Given the description of an element on the screen output the (x, y) to click on. 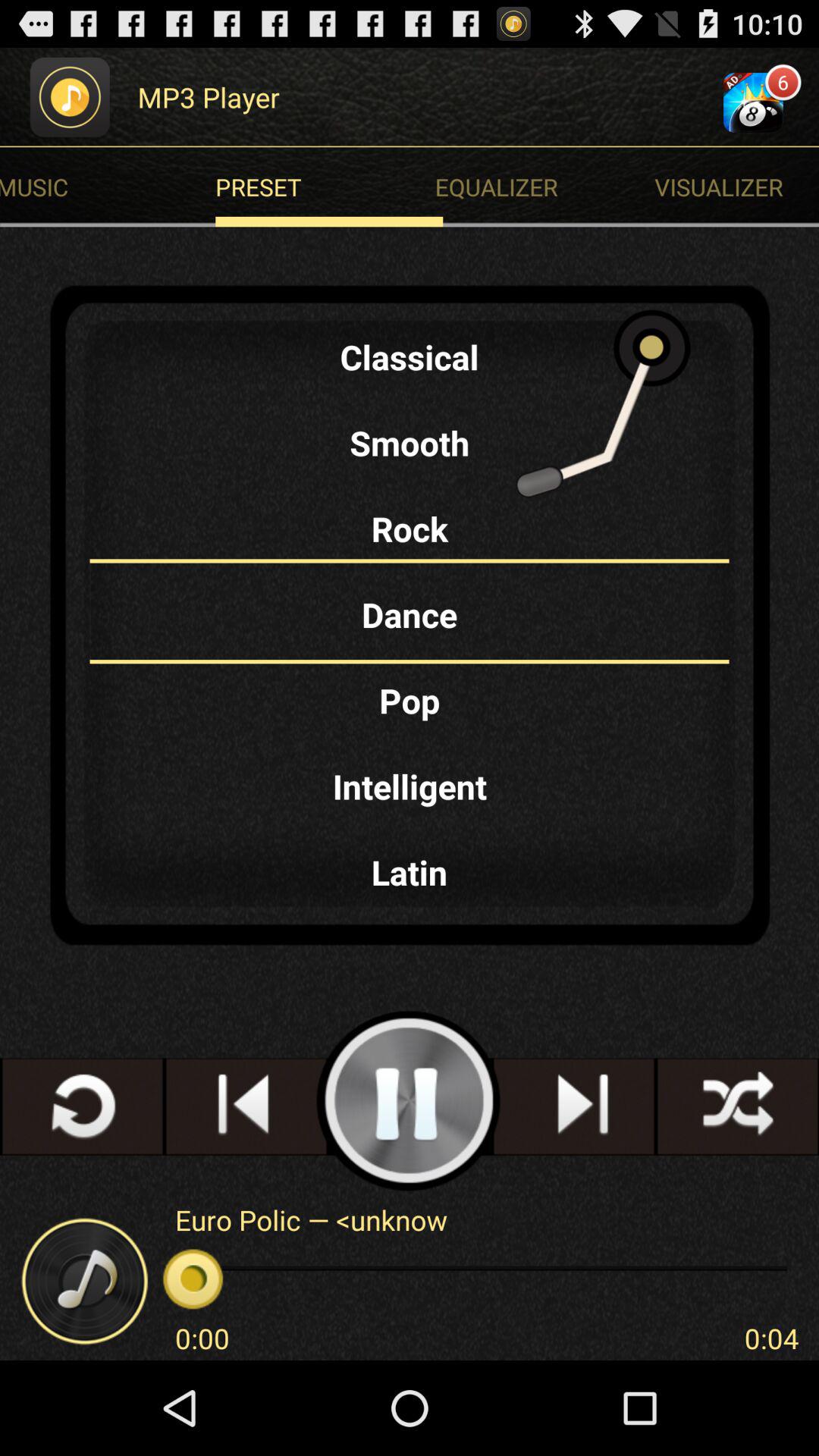
scroll to visualizer radio button (736, 186)
